Given the description of an element on the screen output the (x, y) to click on. 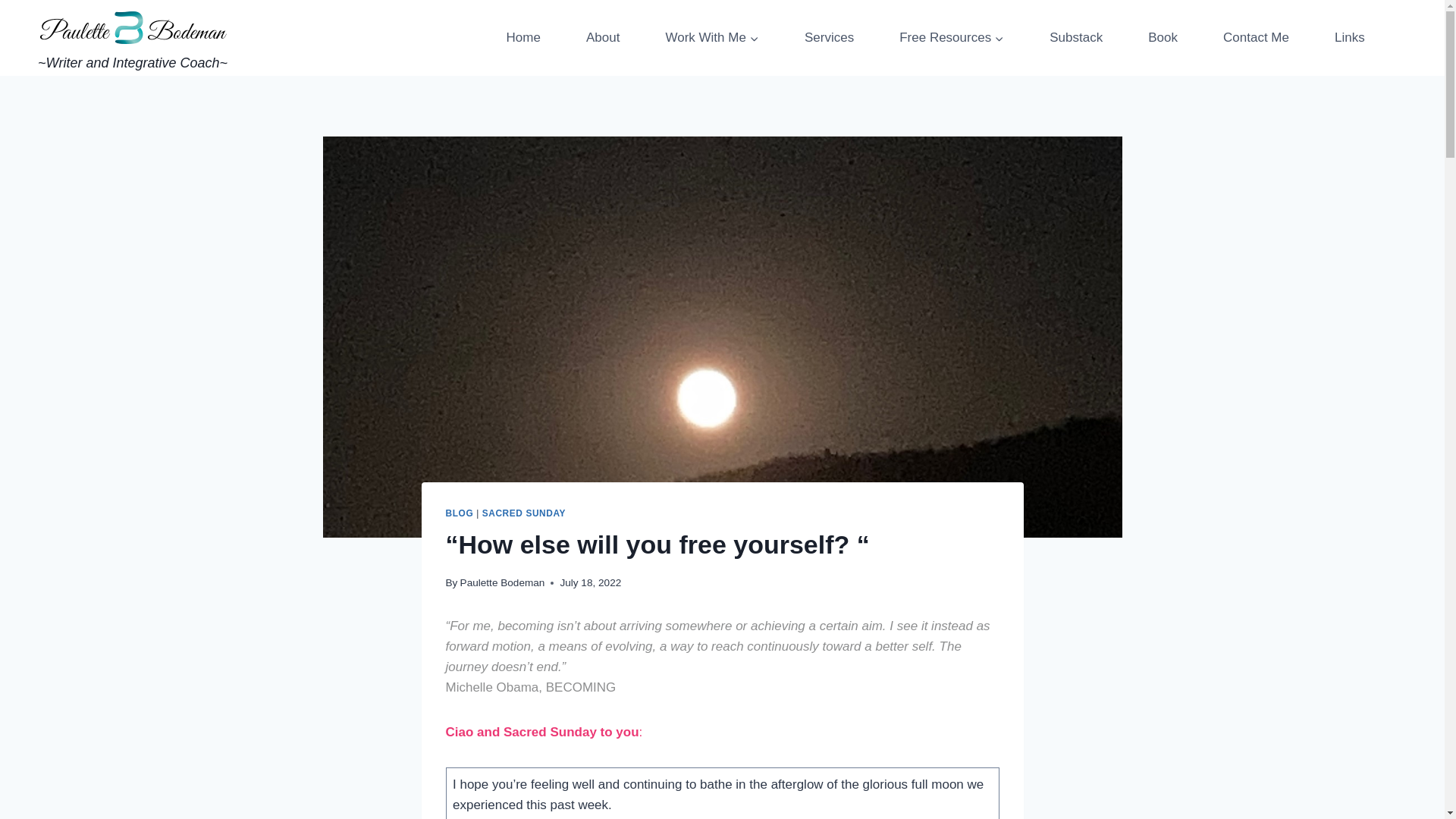
SACRED SUNDAY (523, 512)
BLOG (459, 512)
Paulette Bodeman (502, 582)
Contact Me (1256, 37)
Free Resources (951, 37)
Links (1349, 37)
About (602, 37)
Services (828, 37)
Substack (1075, 37)
Home (522, 37)
Work With Me (712, 37)
Book (1162, 37)
